Given the description of an element on the screen output the (x, y) to click on. 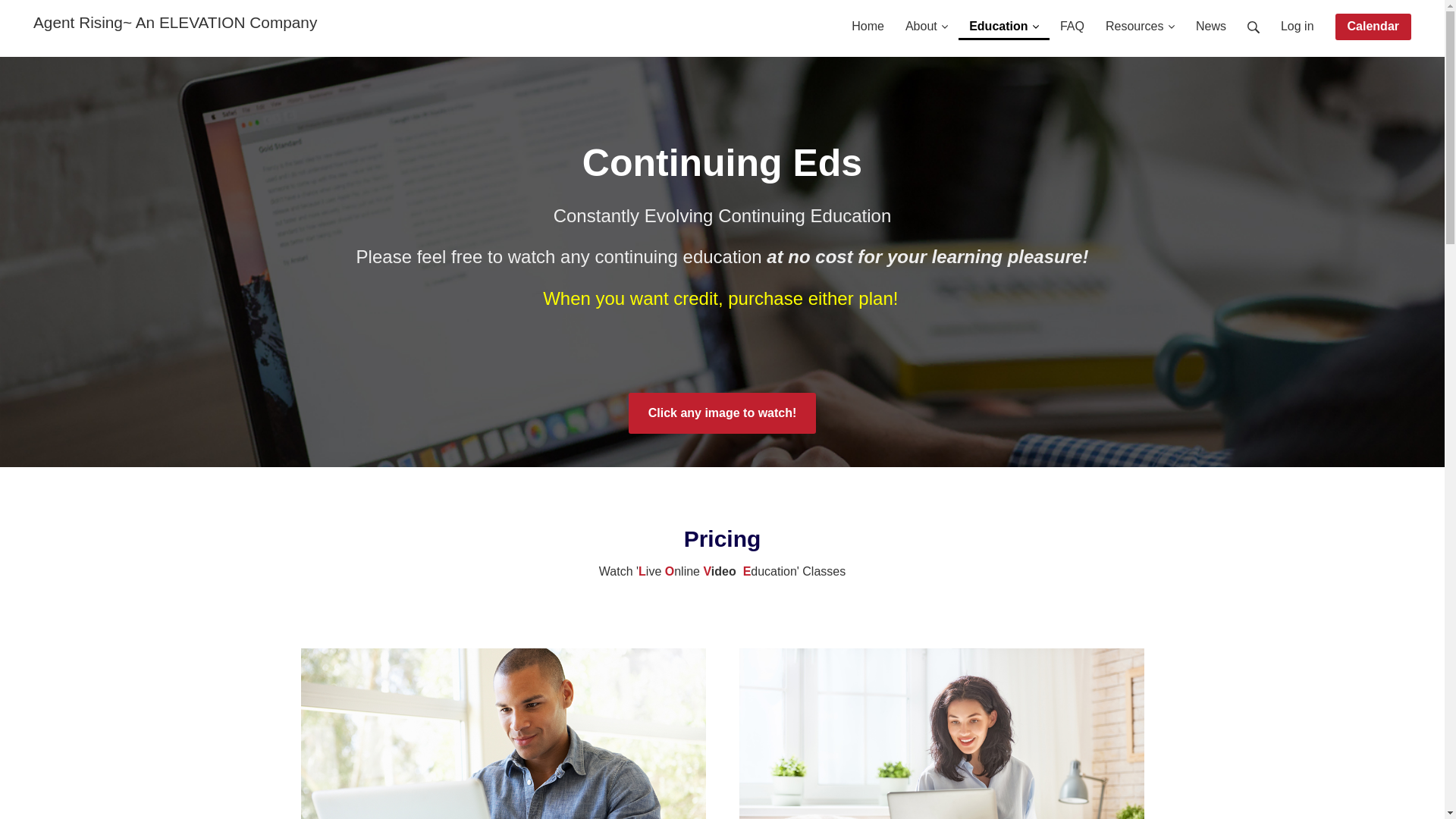
FAQ (1071, 20)
Home (868, 20)
Log in (1296, 20)
Calendar (1372, 26)
Click any image to watch! (722, 413)
Resources (1139, 20)
Education (1003, 20)
News (1210, 20)
About (926, 20)
